Given the description of an element on the screen output the (x, y) to click on. 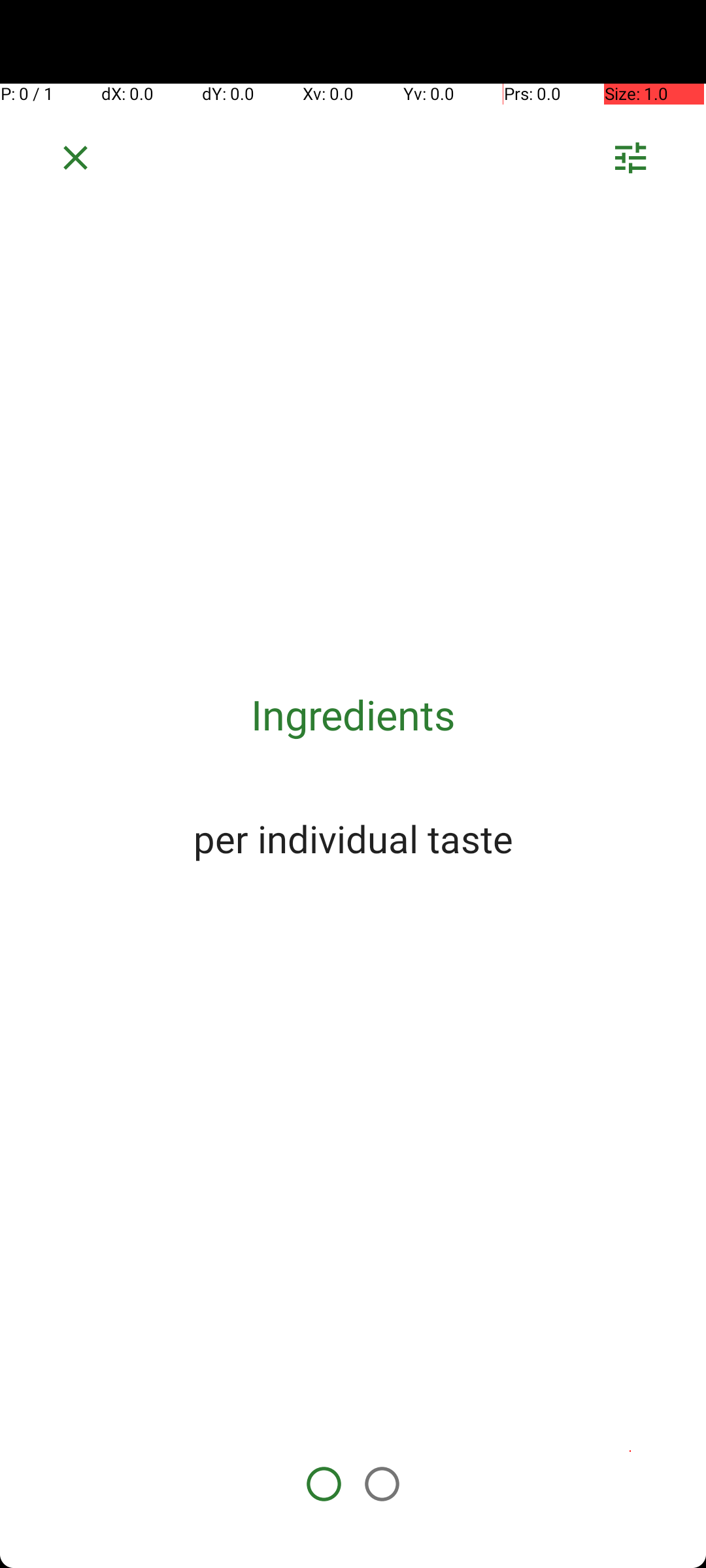
per individual taste Element type: android.widget.TextView (353, 838)
